Given the description of an element on the screen output the (x, y) to click on. 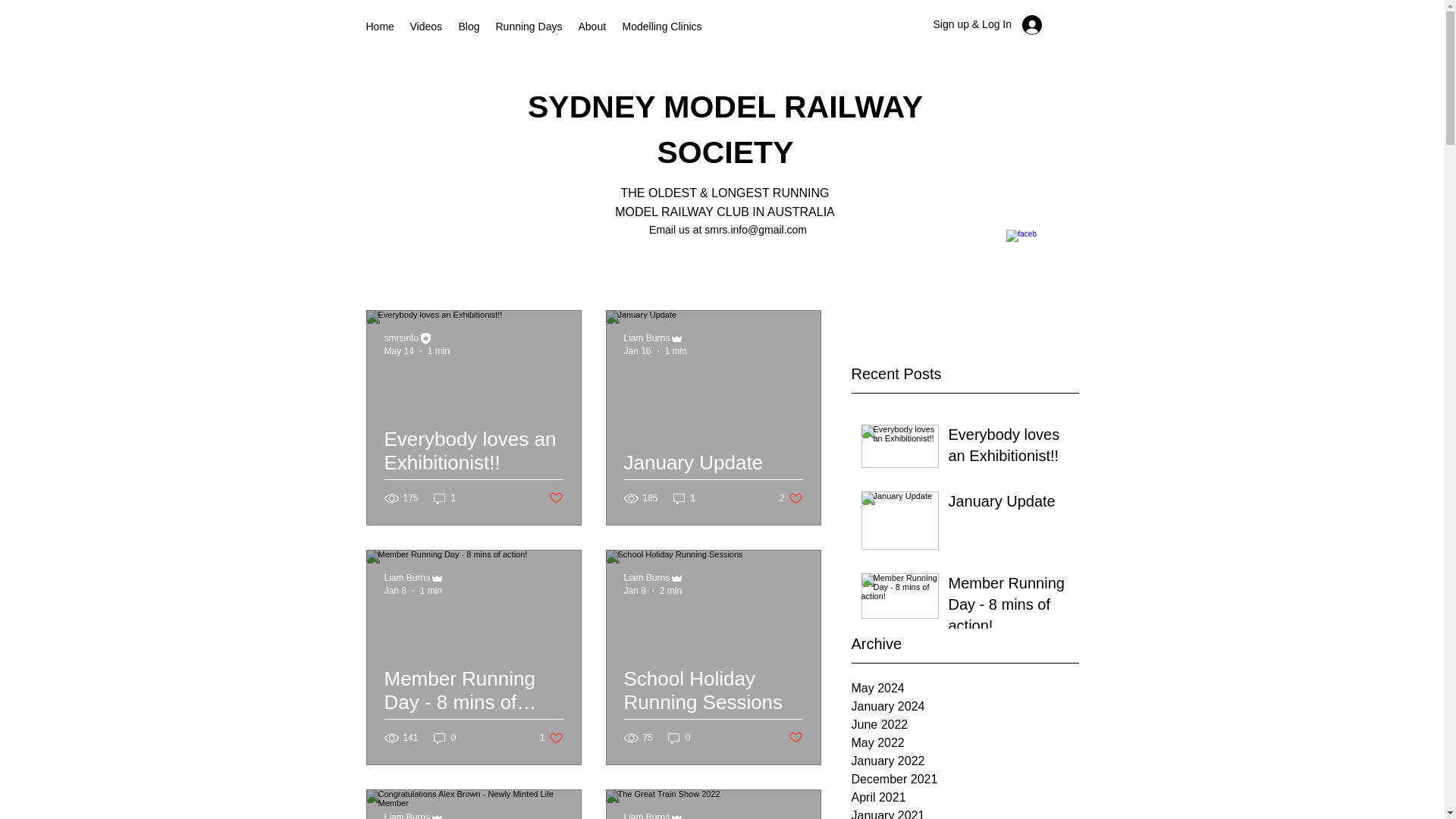
January 2024 (964, 706)
January Update (1007, 503)
January 2022 (964, 761)
Running Days (528, 26)
Liam Burns (646, 815)
January Update (712, 471)
Jan 8 (395, 590)
Liam Burns (646, 577)
Videos (425, 26)
Liam Burns (406, 815)
